Given the description of an element on the screen output the (x, y) to click on. 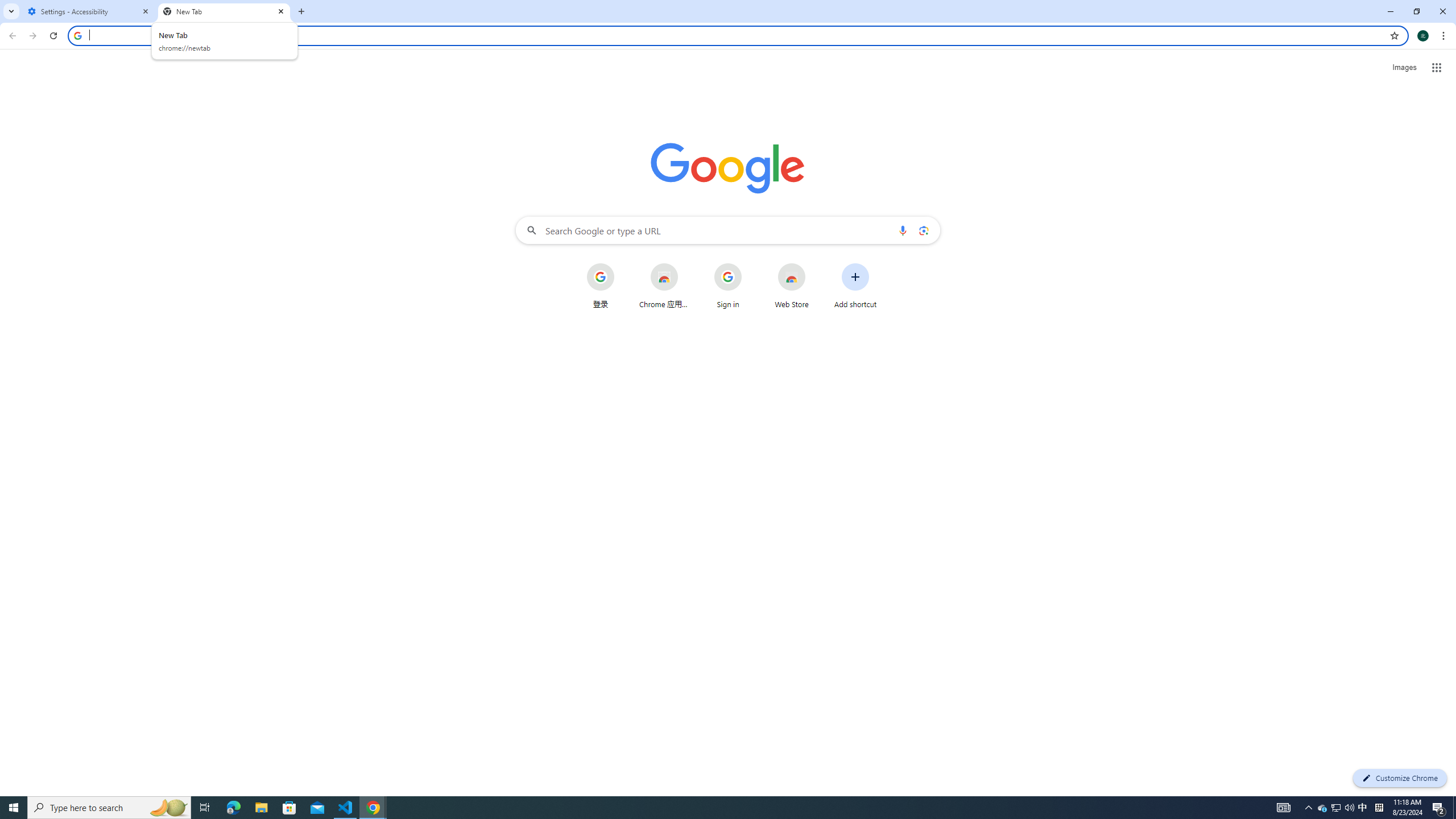
Settings - Accessibility (88, 11)
Add shortcut (855, 285)
Search by voice (902, 230)
